Given the description of an element on the screen output the (x, y) to click on. 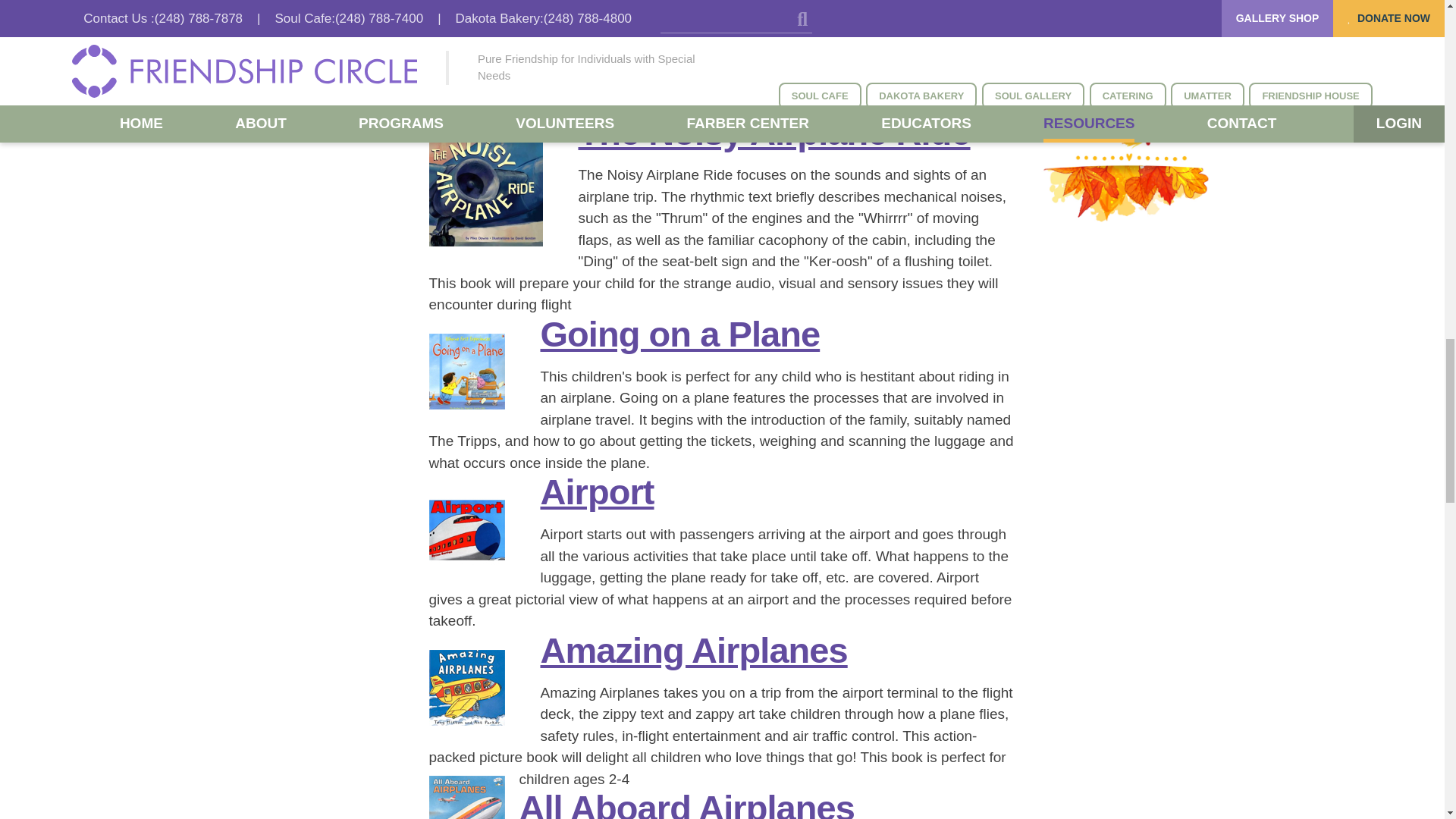
Amazing Airplanes (467, 687)
All Aboard Airplanes (467, 797)
Going on a Plane (679, 333)
All Aboard Airplanes (685, 803)
The Noisy Airplane Ride (773, 132)
Airport (596, 491)
Airport (467, 530)
Amazing Airplanes (693, 649)
The Noisy Airplane Ride (486, 189)
Going on a Plane (467, 371)
